Given the description of an element on the screen output the (x, y) to click on. 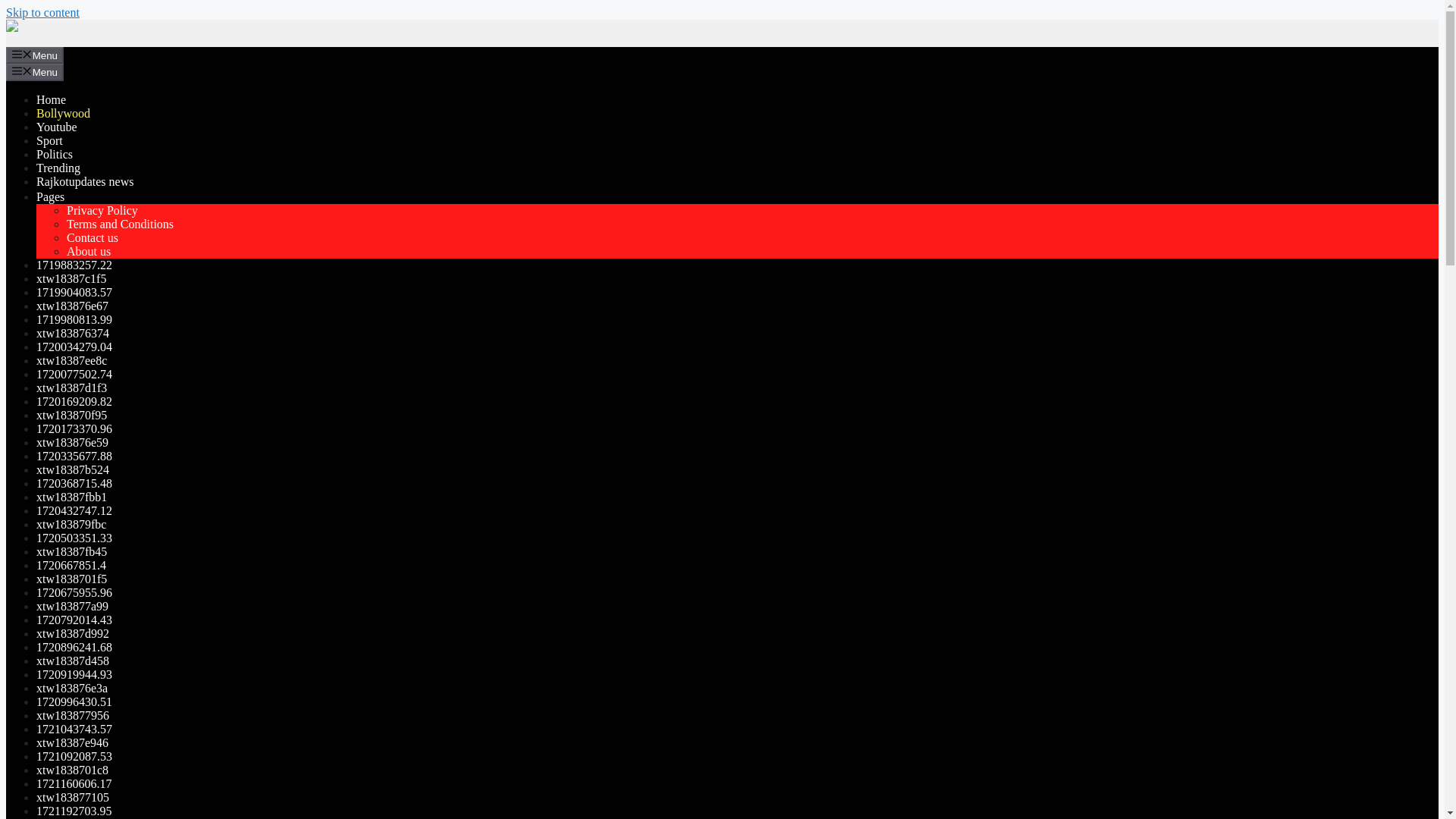
Menu (34, 71)
About us (88, 250)
xtw183876e59 (71, 441)
1719980813.99 (74, 318)
1720432747.12 (74, 510)
1720169209.82 (74, 400)
1720667851.4 (71, 564)
xtw183879fbc (71, 523)
xtw18387c1f5 (71, 278)
xtw18387b524 (72, 469)
Privacy Policy (102, 210)
xtw18387fbb1 (71, 496)
1720173370.96 (74, 428)
1720503351.33 (74, 537)
1720335677.88 (74, 455)
